Given the description of an element on the screen output the (x, y) to click on. 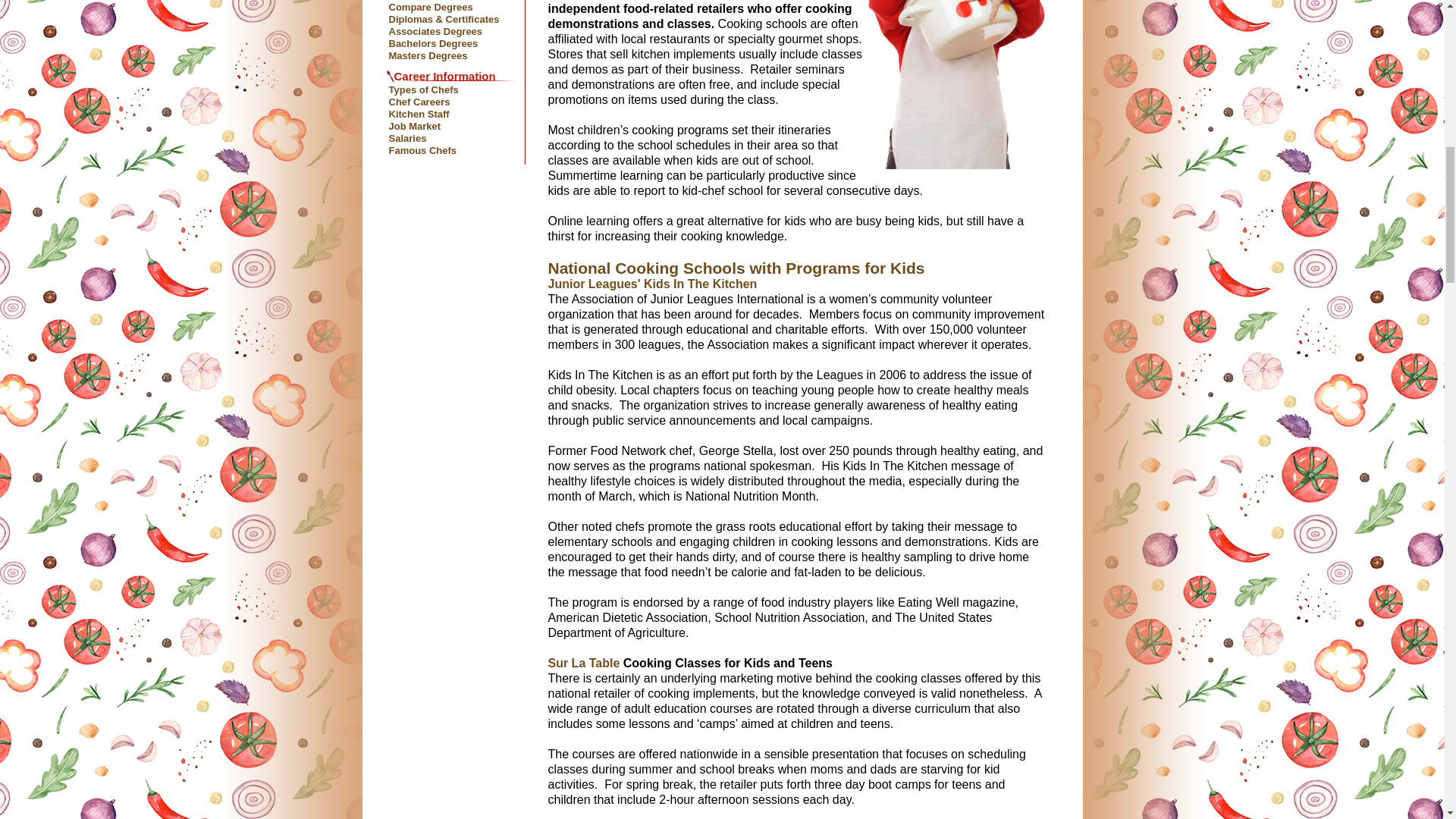
Junior Leagues' Kids In The Kitchen (652, 283)
Sur La Table (583, 662)
